Given the description of an element on the screen output the (x, y) to click on. 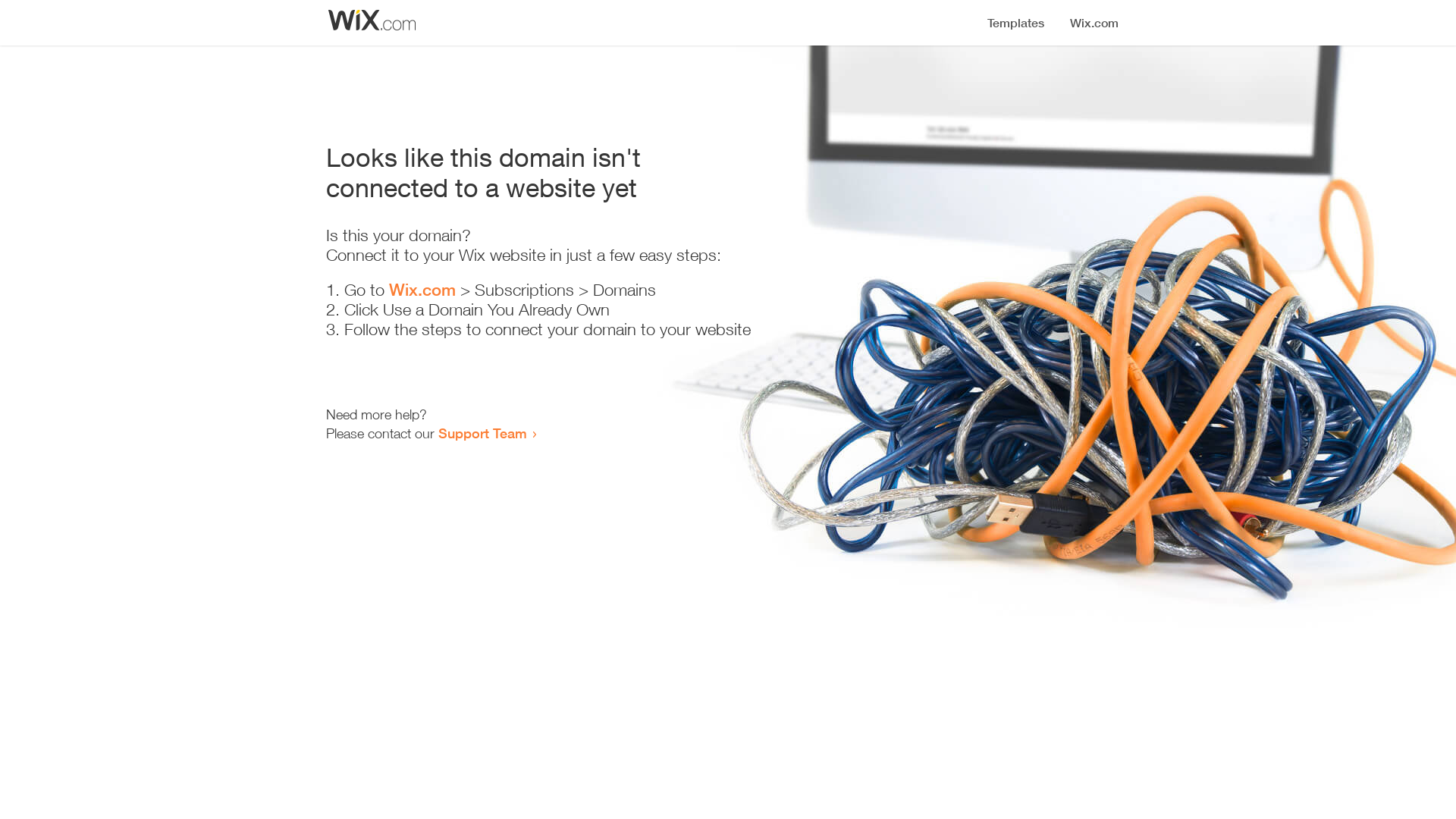
Support Team Element type: text (482, 432)
Wix.com Element type: text (422, 289)
